Given the description of an element on the screen output the (x, y) to click on. 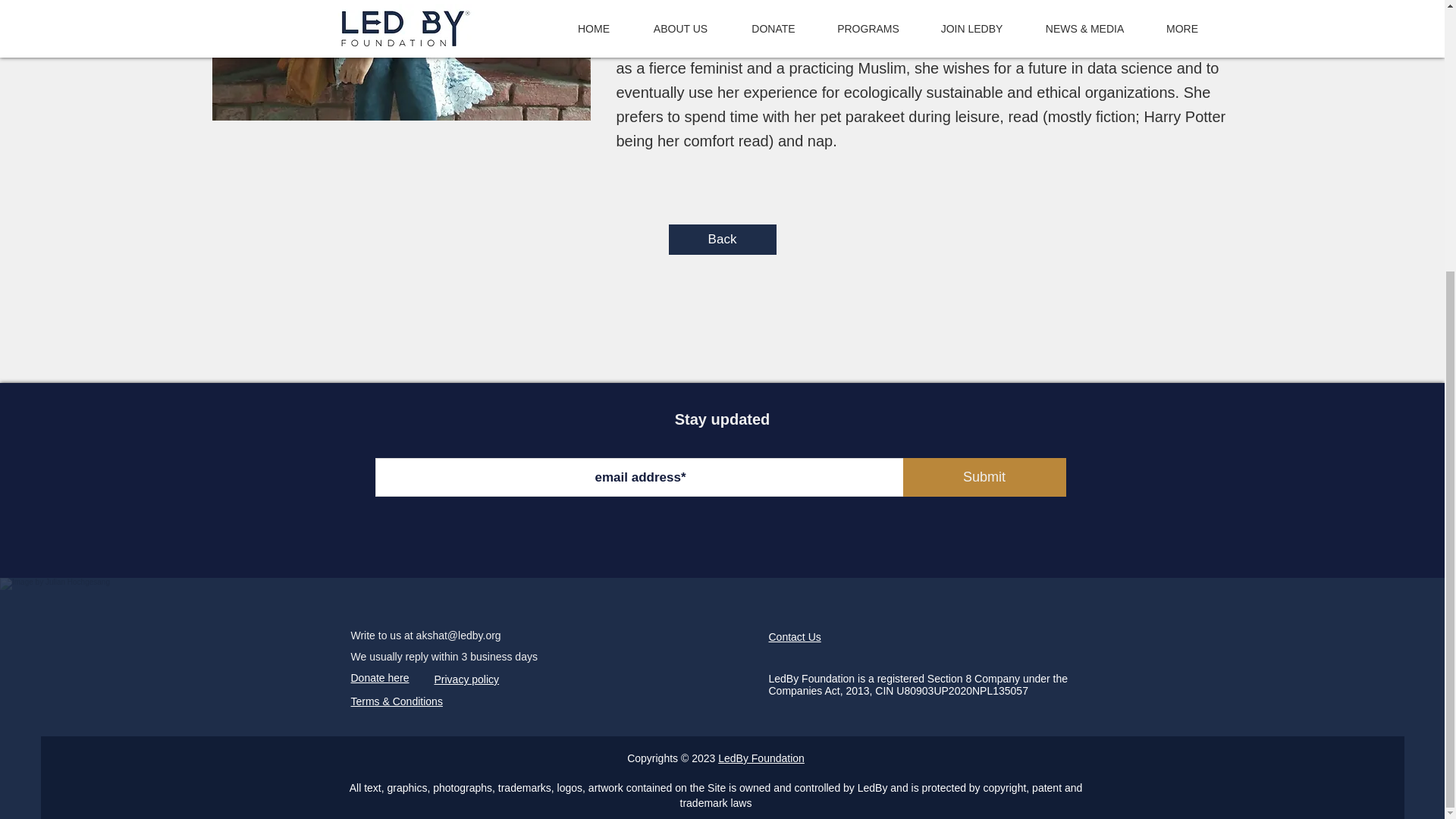
Privacy policy (466, 679)
Refund Policy (382, 749)
Submit (983, 476)
Contact Us (794, 636)
Donate here (379, 677)
Back (722, 239)
LedBy Foundation (761, 758)
